Given the description of an element on the screen output the (x, y) to click on. 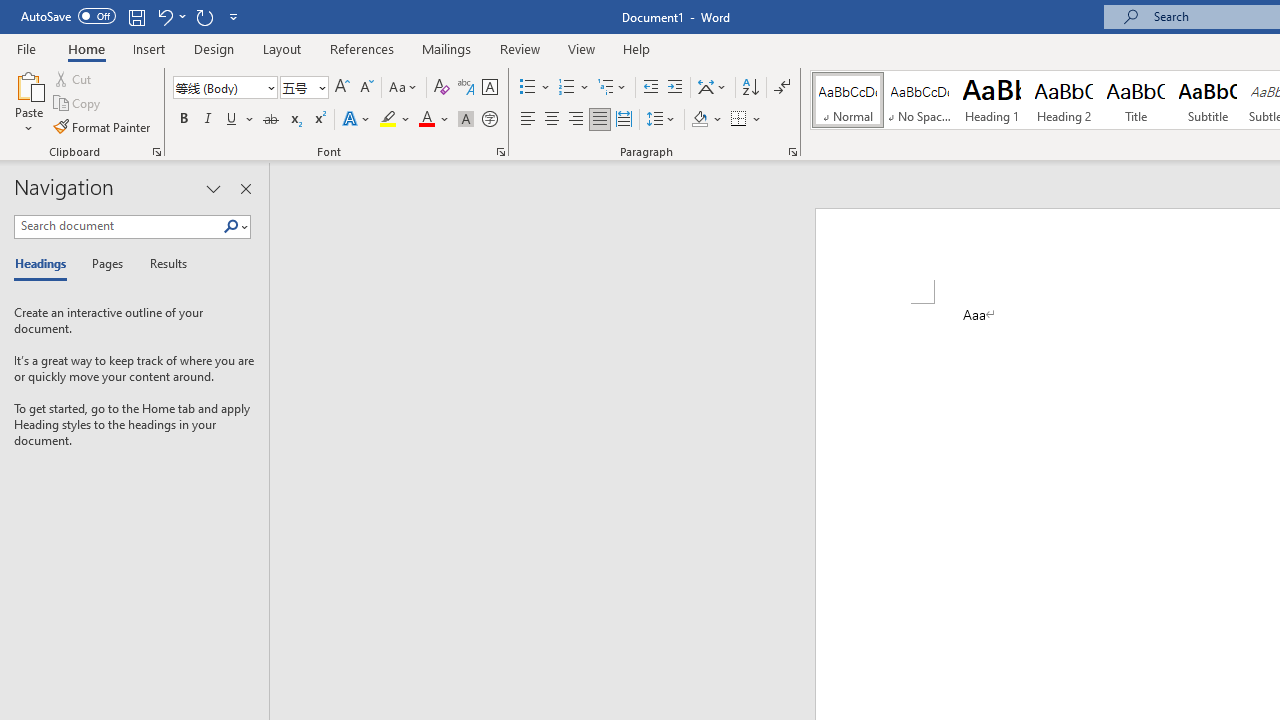
Multilevel List (613, 87)
Results (161, 264)
Text Effects and Typography (357, 119)
Office Clipboard... (156, 151)
Character Shading (465, 119)
Repeat Increase Indent (204, 15)
Clear Formatting (442, 87)
Font... (500, 151)
